Given the description of an element on the screen output the (x, y) to click on. 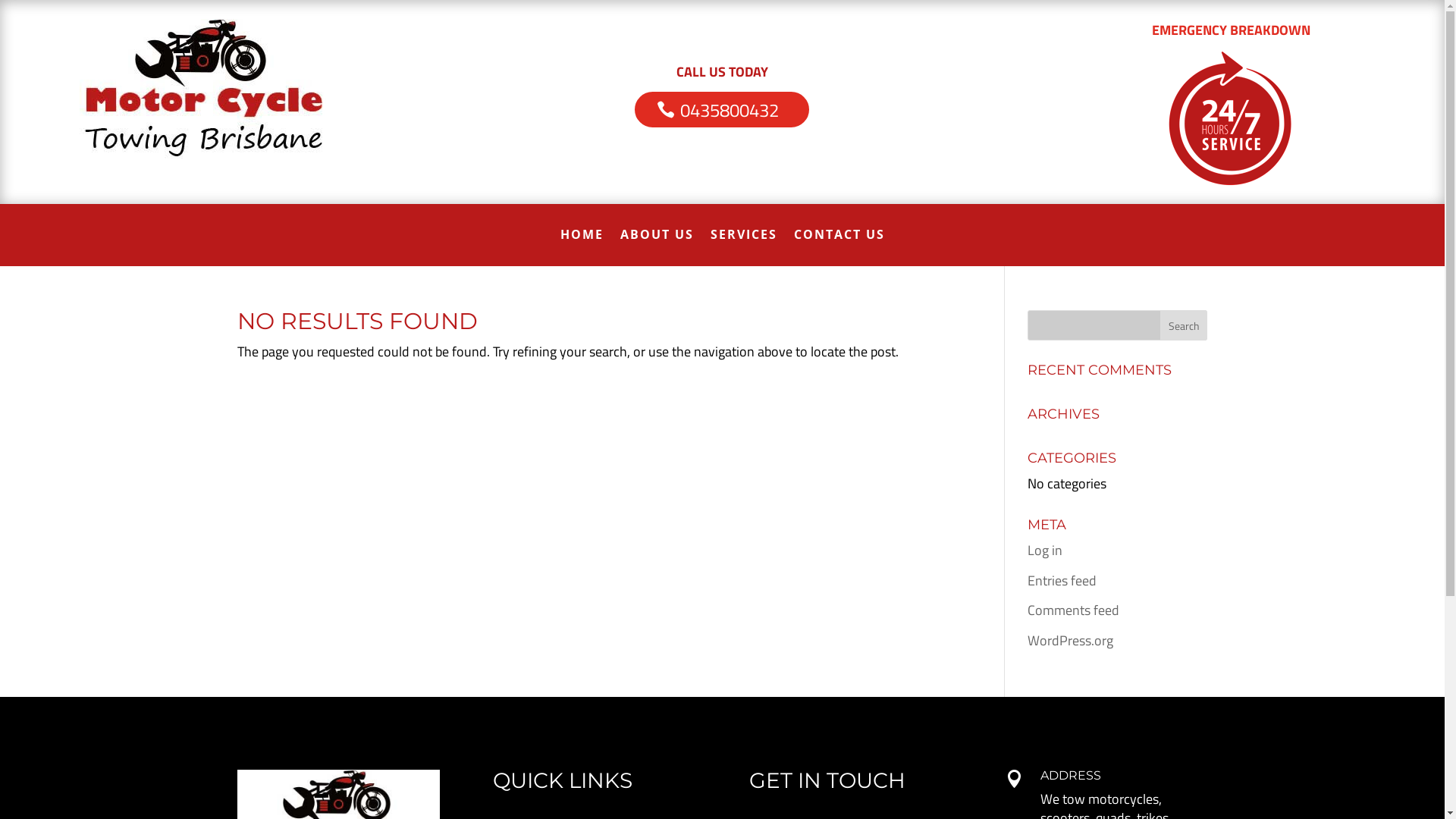
Search Element type: text (1184, 325)
WordPress.org Element type: text (1070, 640)
Comments feed Element type: text (1073, 609)
ABOUT US Element type: text (656, 245)
SERVICES Element type: text (742, 245)
HOME Element type: text (580, 245)
0435800432 Element type: text (721, 109)
Entries feed Element type: text (1061, 580)
CONTACT US Element type: text (838, 245)
Log in Element type: text (1044, 549)
